Given the description of an element on the screen output the (x, y) to click on. 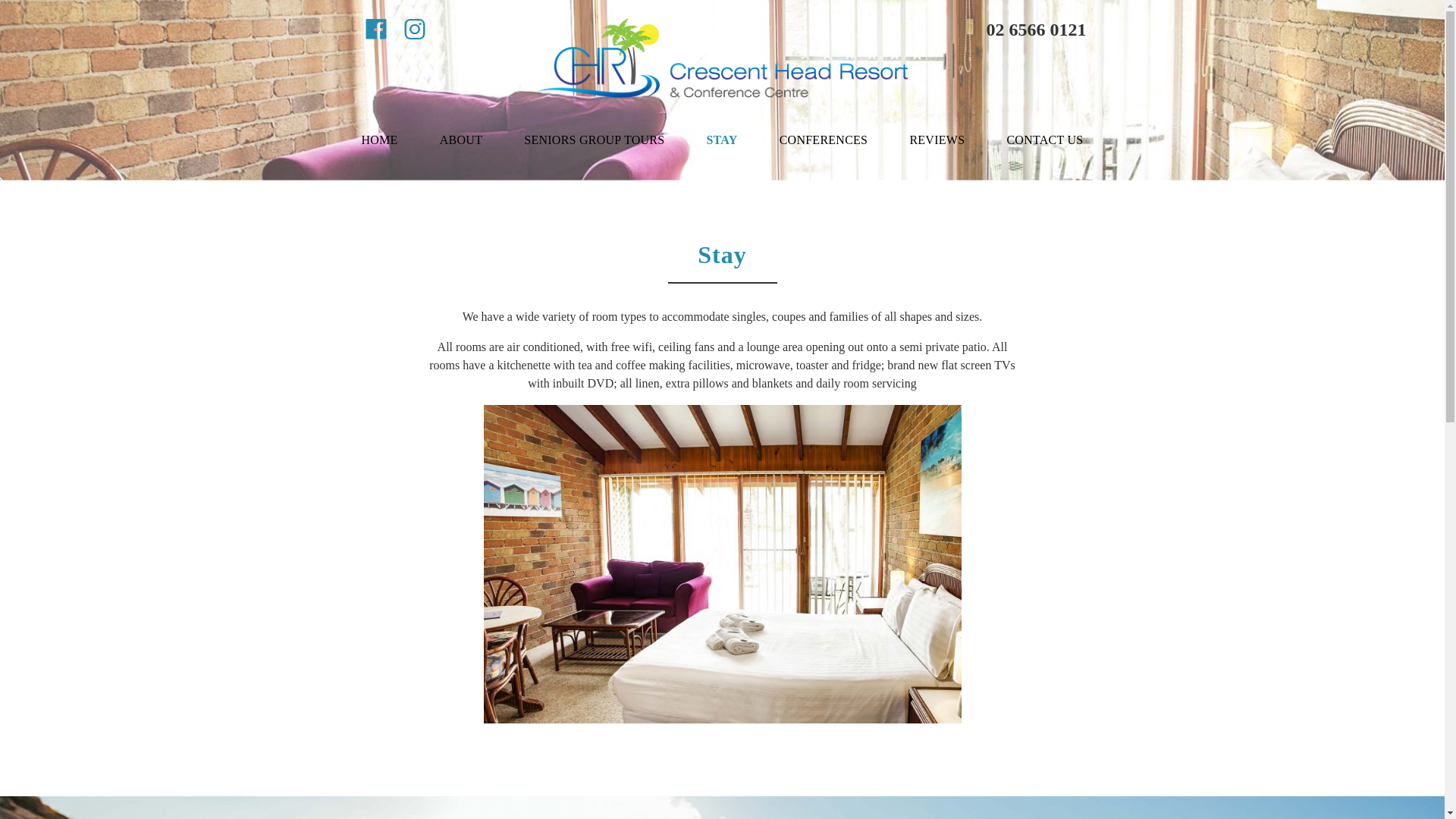
HOME Element type: text (378, 140)
CONTACT US Element type: text (1044, 140)
STAY Element type: text (721, 140)
REVIEWS Element type: text (936, 140)
ABOUT Element type: text (460, 140)
02 6566 0121 Element type: text (1016, 29)
SENIORS GROUP TOURS Element type: text (593, 140)
CONFERENCES Element type: text (823, 140)
